Given the description of an element on the screen output the (x, y) to click on. 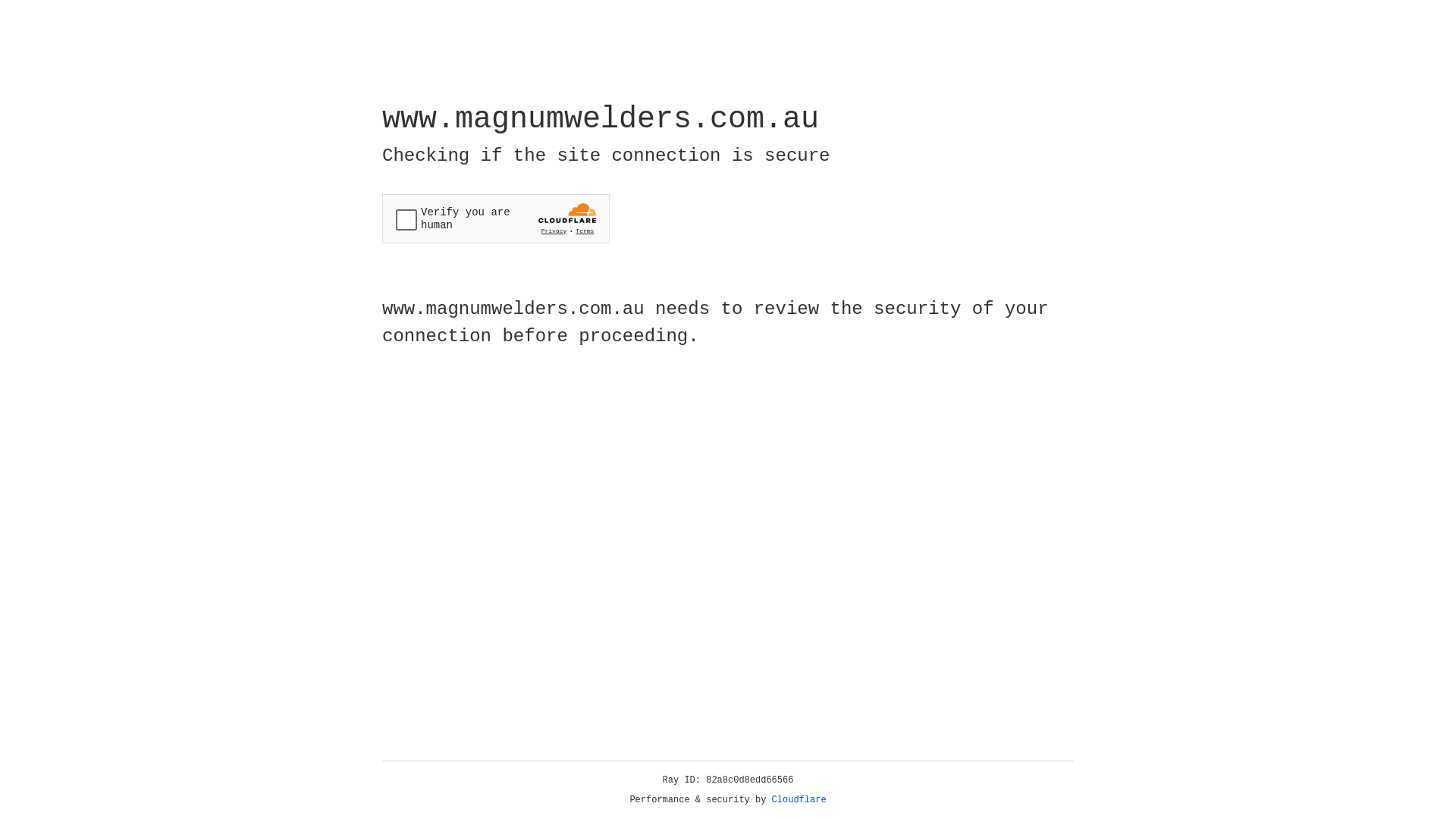
Cloudflare Element type: text (798, 799)
Widget containing a Cloudflare security challenge Element type: hover (495, 218)
